Given the description of an element on the screen output the (x, y) to click on. 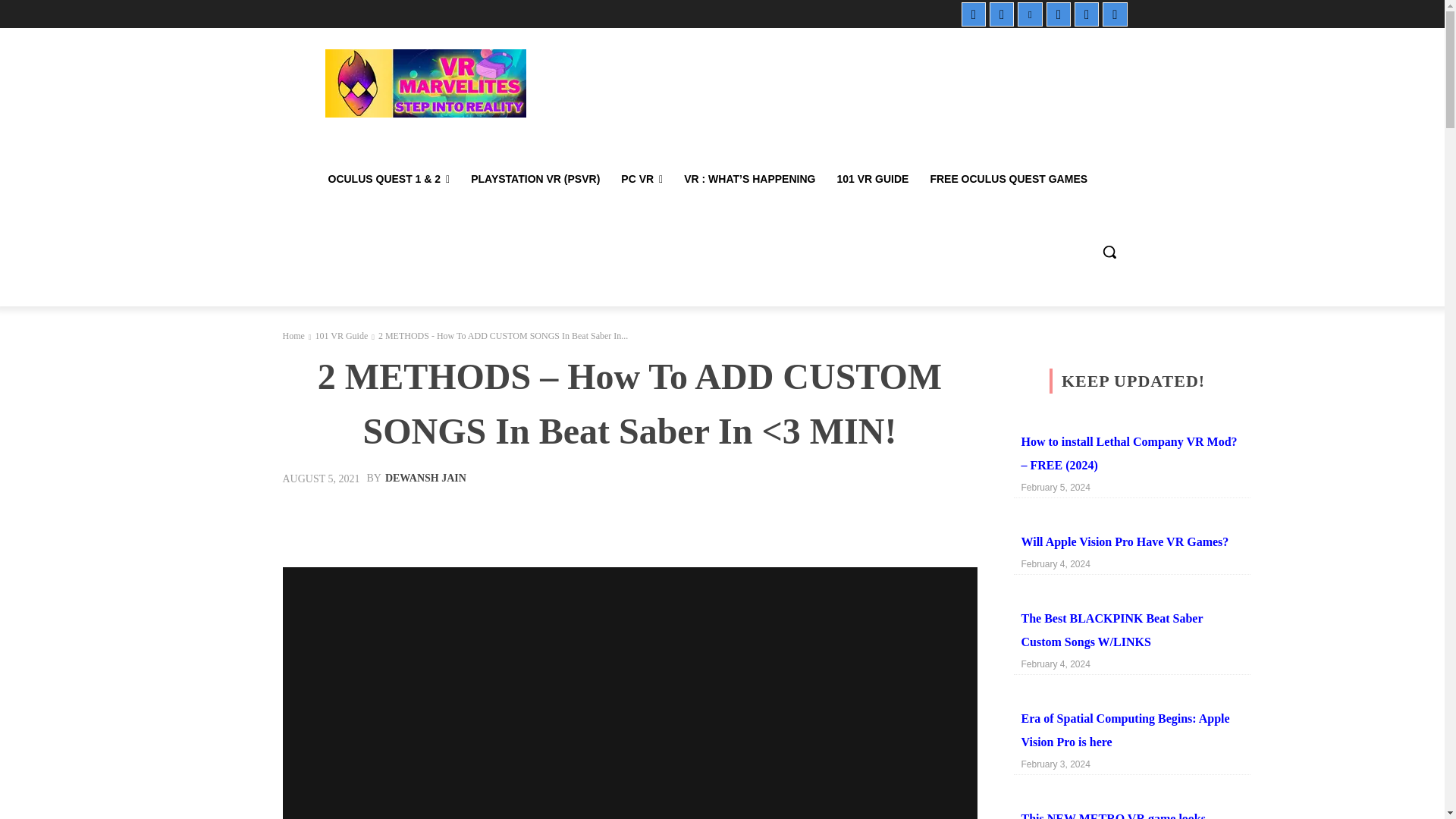
VR Marvelites (424, 83)
Pinterest (1029, 13)
Twitter (1086, 13)
Reddit (1058, 13)
Youtube (1114, 13)
Instagram (1001, 13)
Facebook (972, 13)
VR Marvelites (425, 83)
View all posts in 101 VR Guide (341, 335)
